Given the description of an element on the screen output the (x, y) to click on. 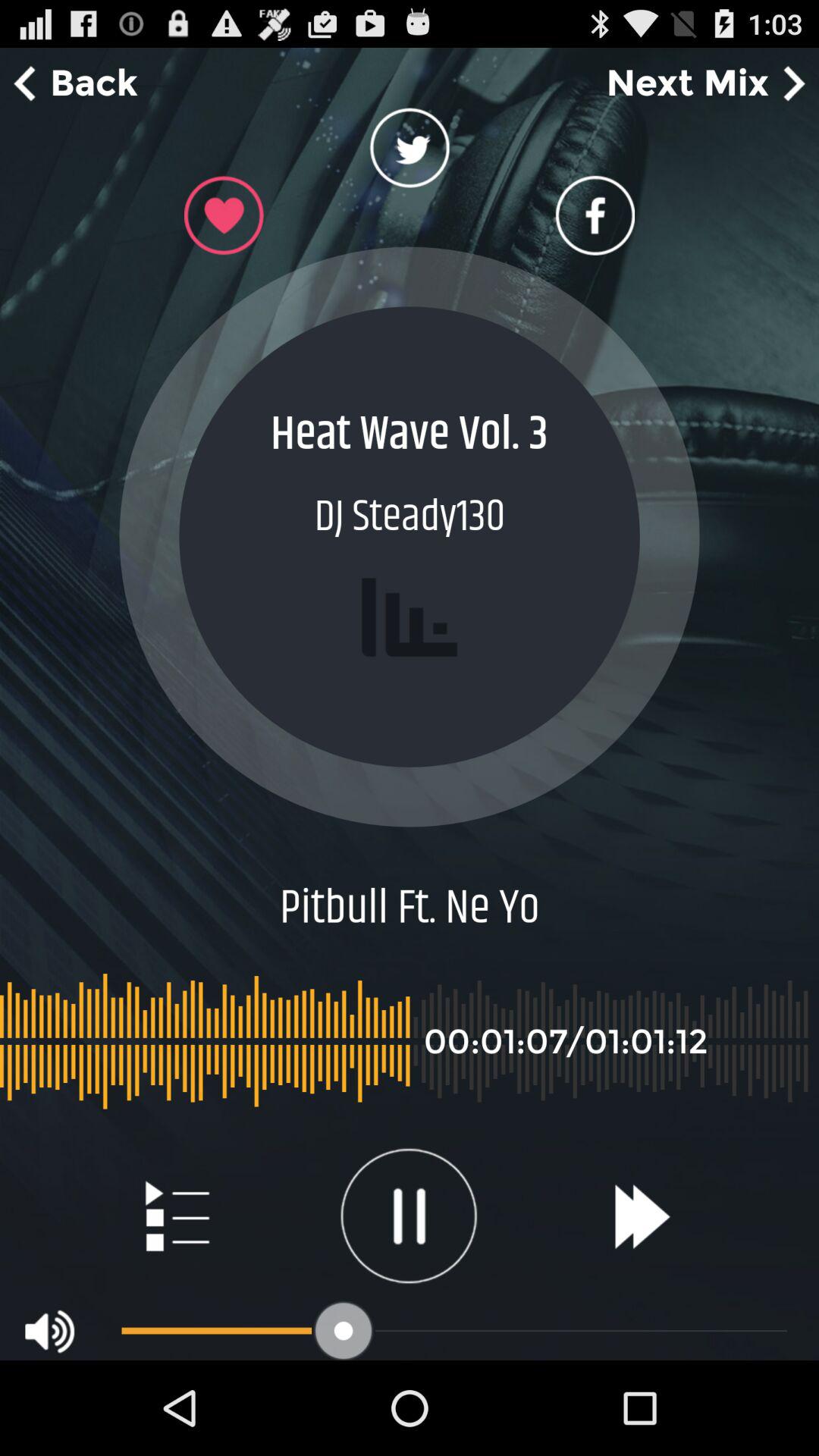
add to favorites (223, 215)
